Given the description of an element on the screen output the (x, y) to click on. 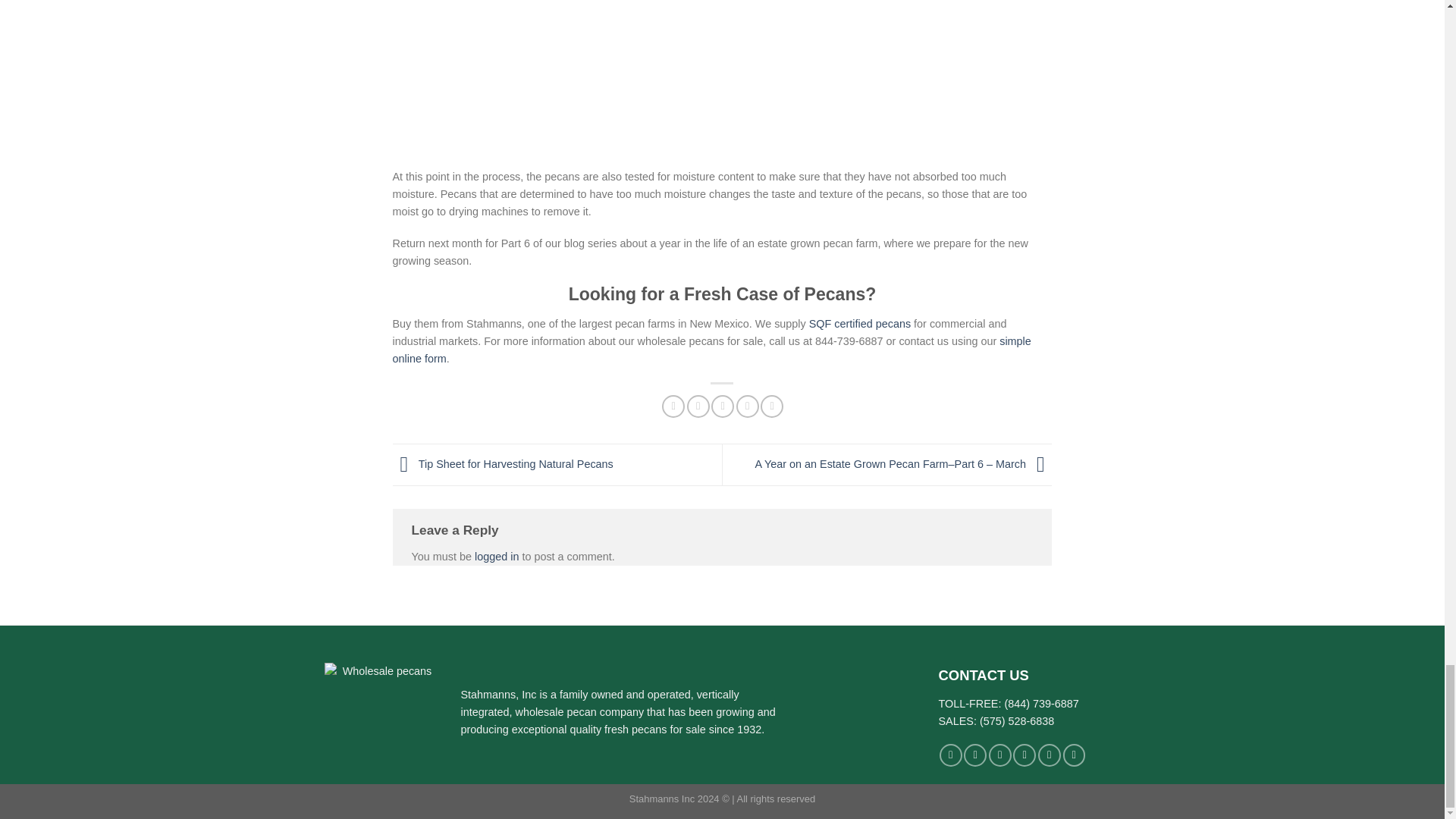
Share on Facebook (673, 405)
Follow on Twitter (999, 754)
SQF certified pecans (860, 323)
Share on Twitter (698, 405)
Follow on Facebook (950, 754)
Share on LinkedIn (771, 405)
simple online form (711, 349)
Pin on Pinterest (747, 405)
Follow on Instagram (975, 754)
Email to a Friend (722, 405)
Tip Sheet for Harvesting Natural Pecans (502, 463)
